Given the description of an element on the screen output the (x, y) to click on. 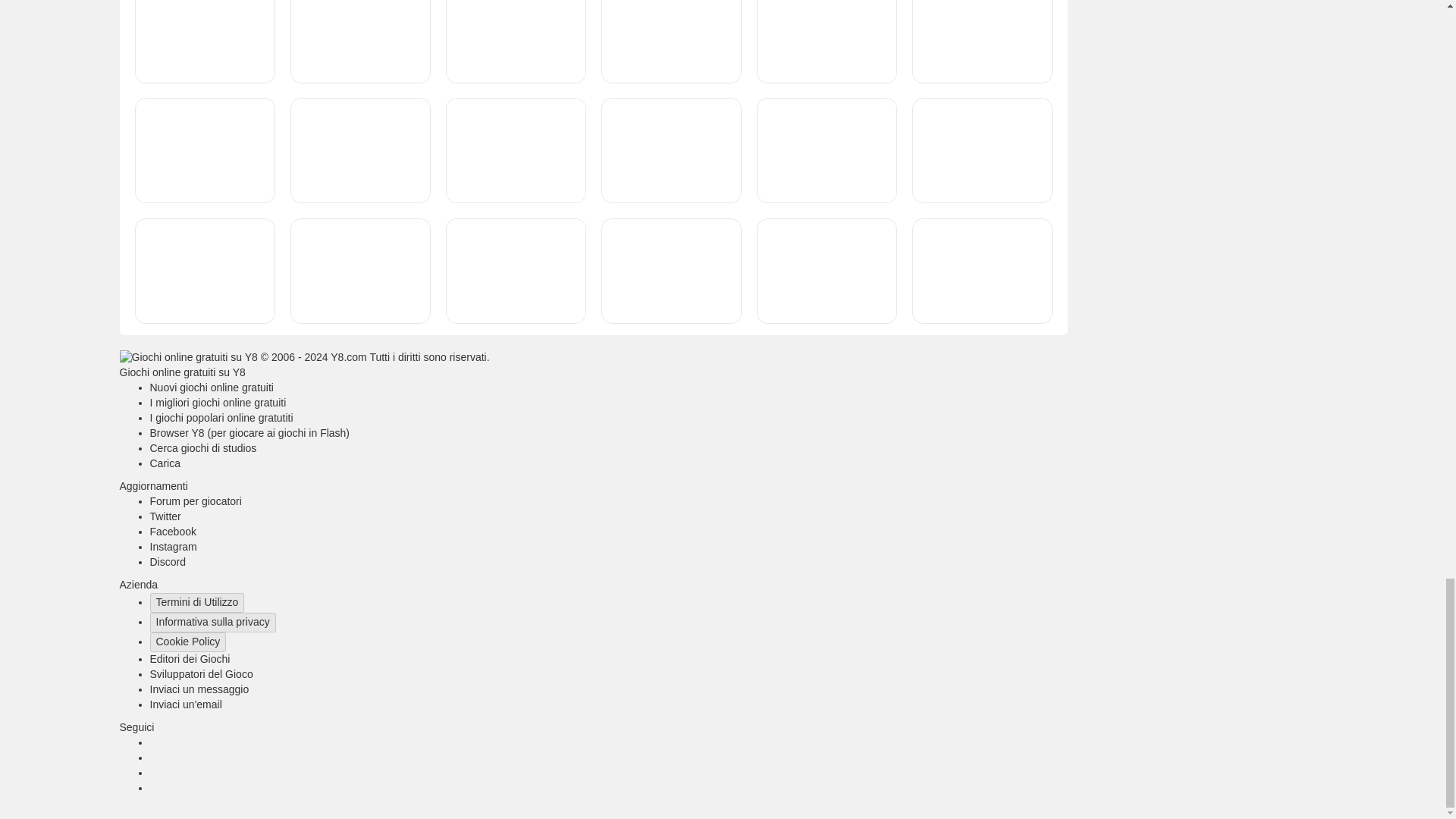
Scaricate Y8 Browser (249, 432)
Termini di Utilizzo (196, 602)
Informativa sulla privacy (212, 622)
Cookie Policy (188, 641)
Sii il primo a giocare ai nuovi giochi online gratuiti! (211, 387)
